Given the description of an element on the screen output the (x, y) to click on. 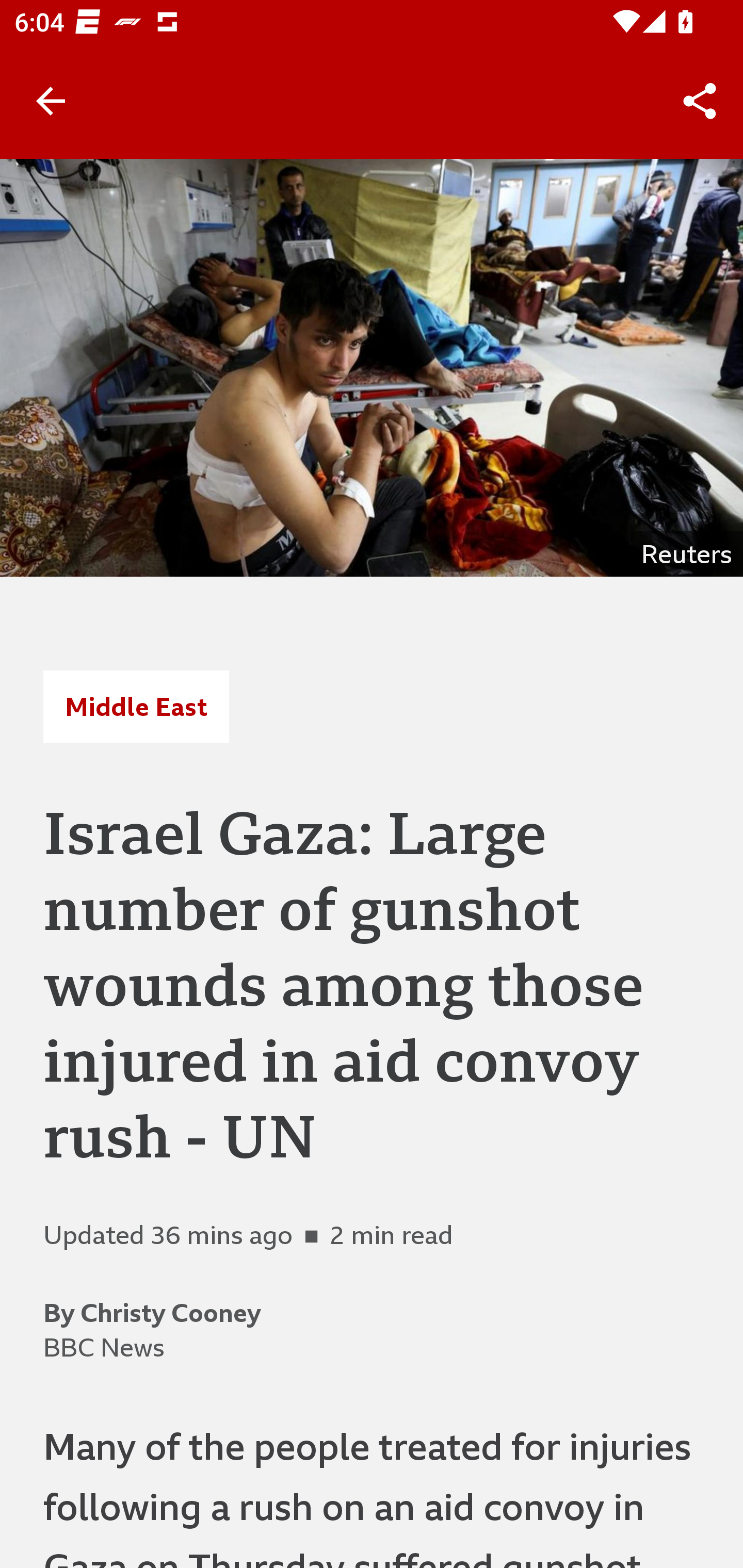
Back (50, 101)
Share (699, 101)
Middle East (135, 706)
